Given the description of an element on the screen output the (x, y) to click on. 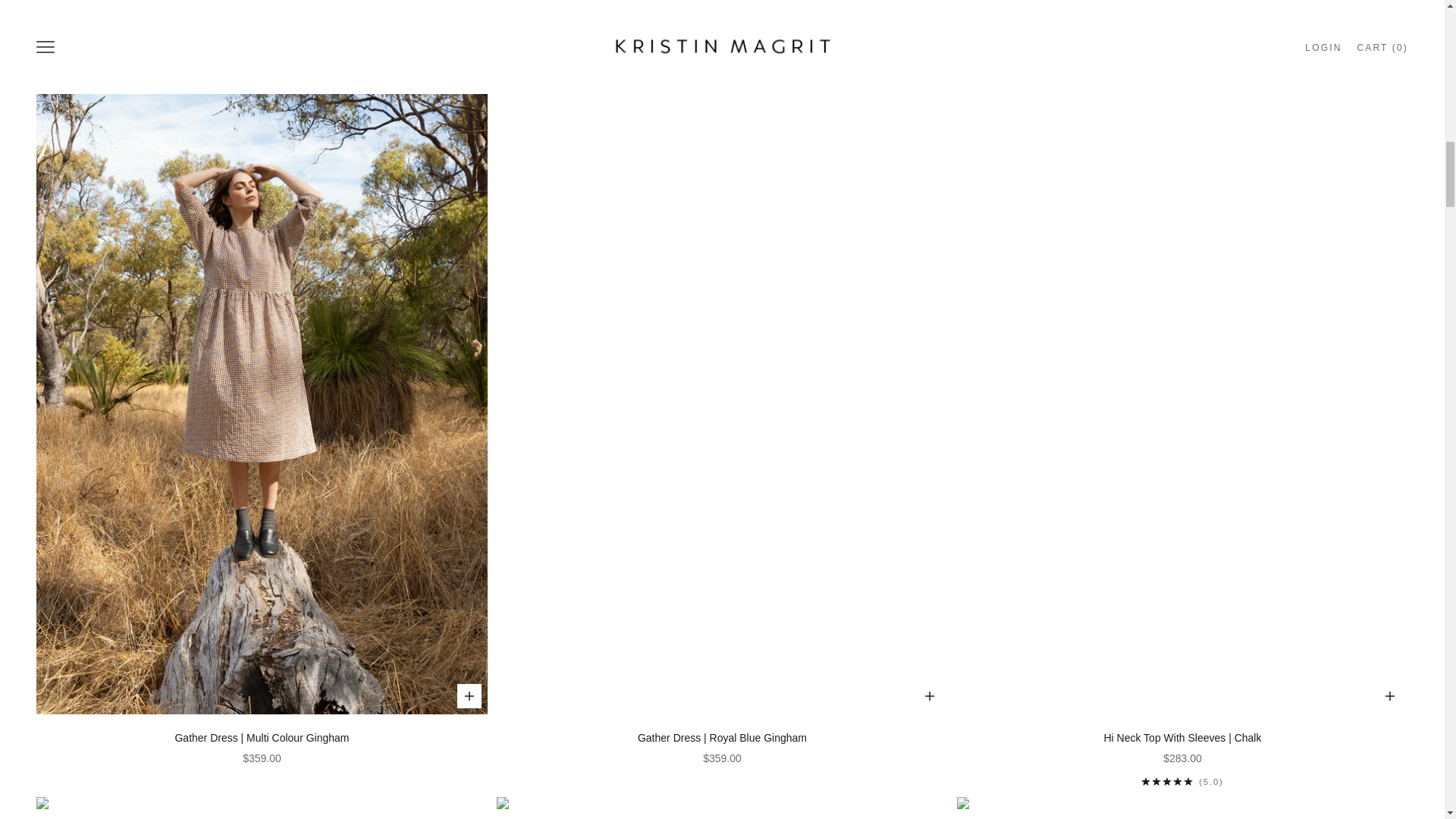
Choose options (469, 695)
1 review (1182, 22)
1 review (1182, 781)
Choose options (1389, 695)
Choose options (929, 695)
